Given the description of an element on the screen output the (x, y) to click on. 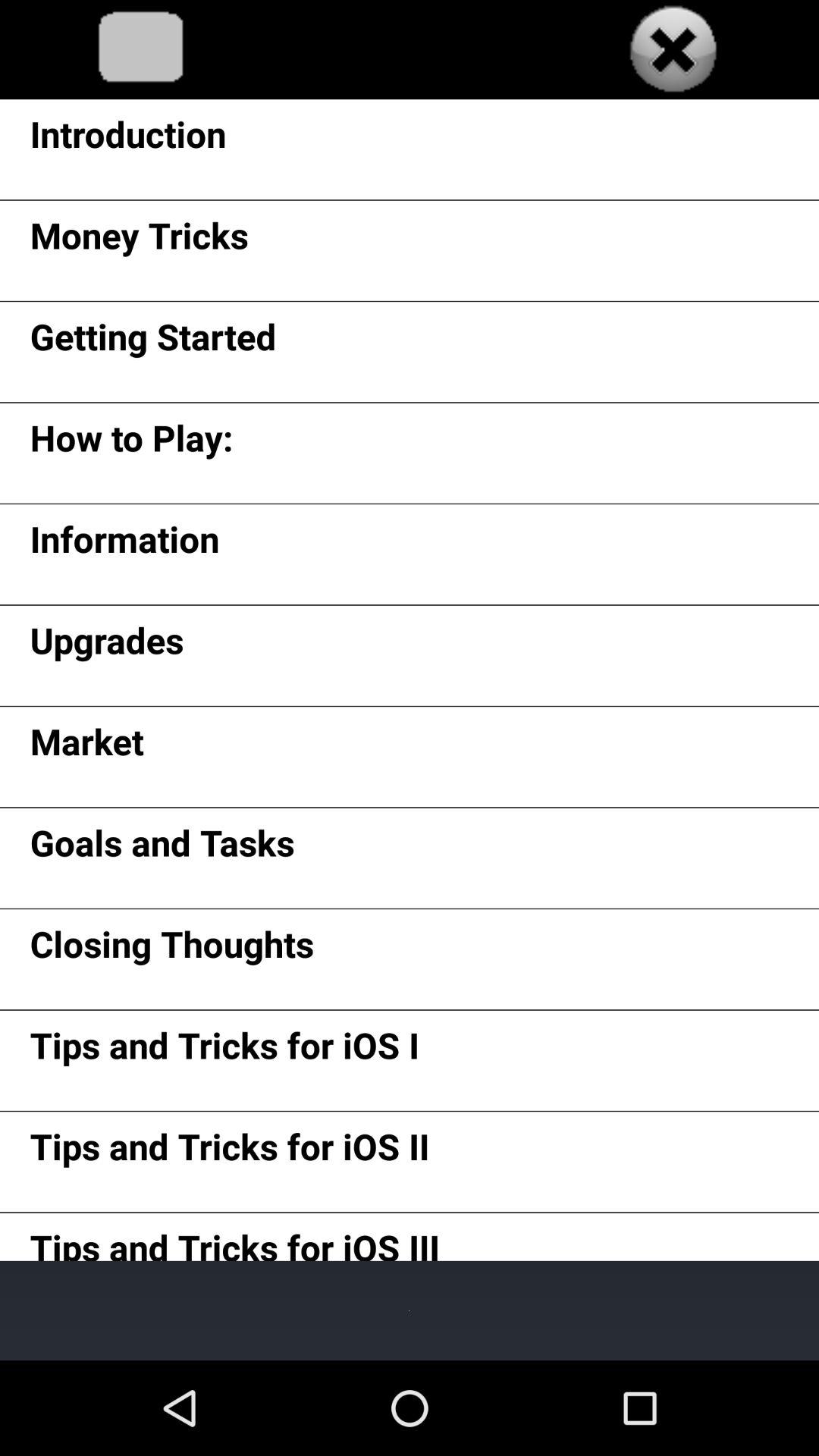
open the item above how to play: app (153, 341)
